Given the description of an element on the screen output the (x, y) to click on. 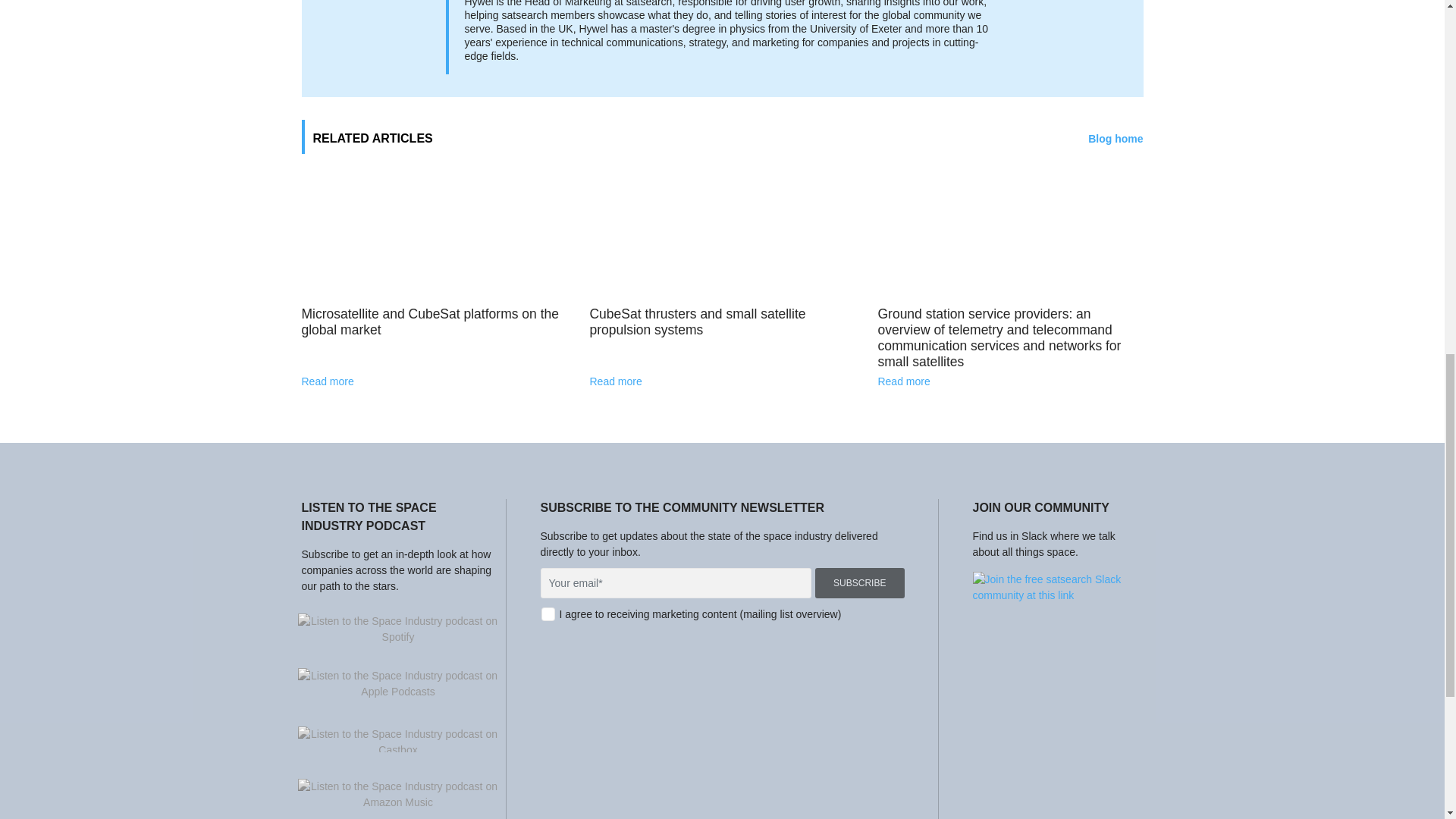
Subscribe (859, 583)
mailing list overview (789, 613)
Blog home (1114, 139)
Subscribe (859, 583)
